Given the description of an element on the screen output the (x, y) to click on. 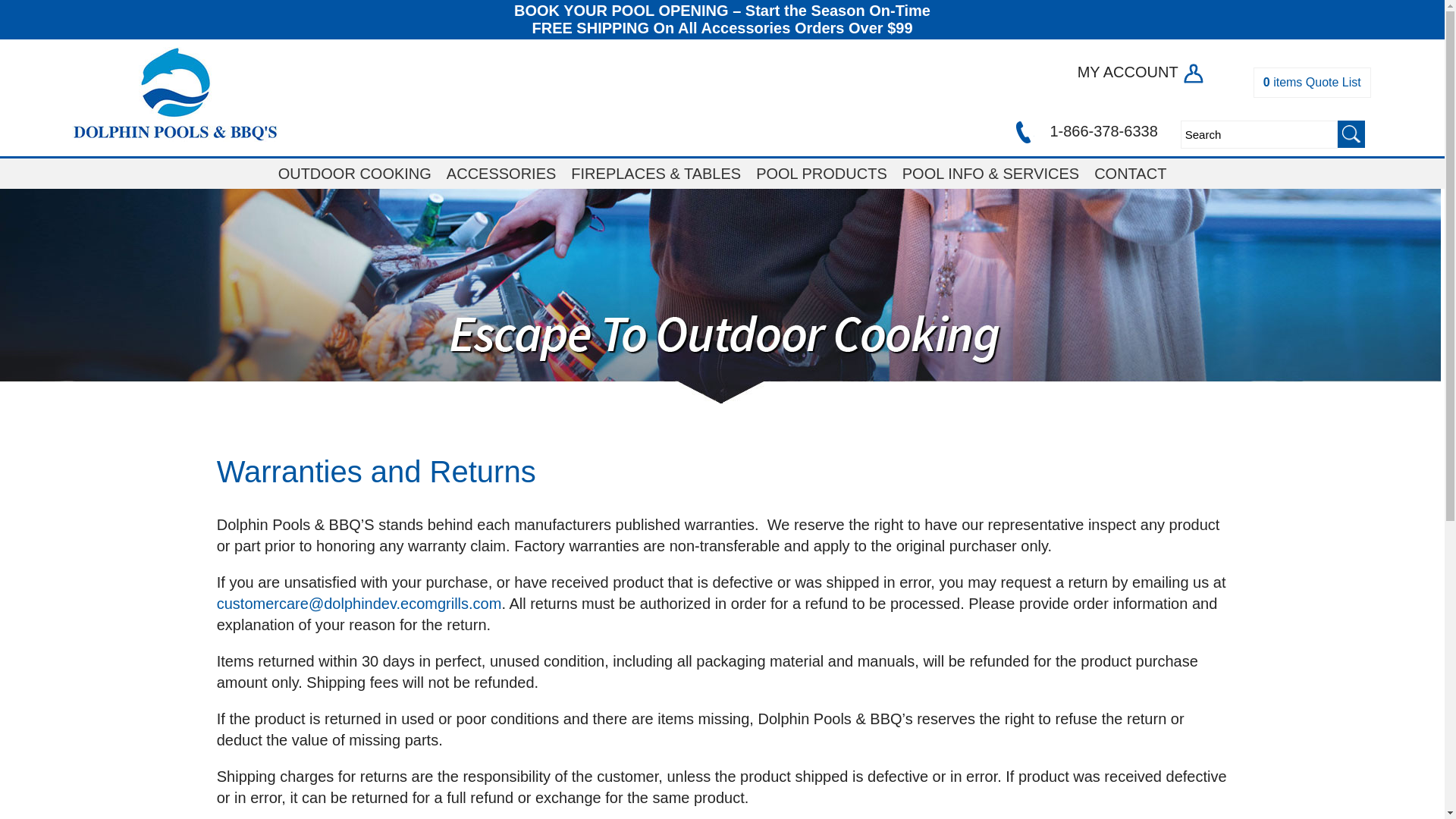
Search (1259, 134)
OUTDOOR COOKING (354, 173)
MY ACCOUNT (1141, 71)
ACCESSORIES (501, 173)
Search (1259, 134)
1-866-378-6338 (1083, 130)
0 items Quote List (1312, 82)
